Given the description of an element on the screen output the (x, y) to click on. 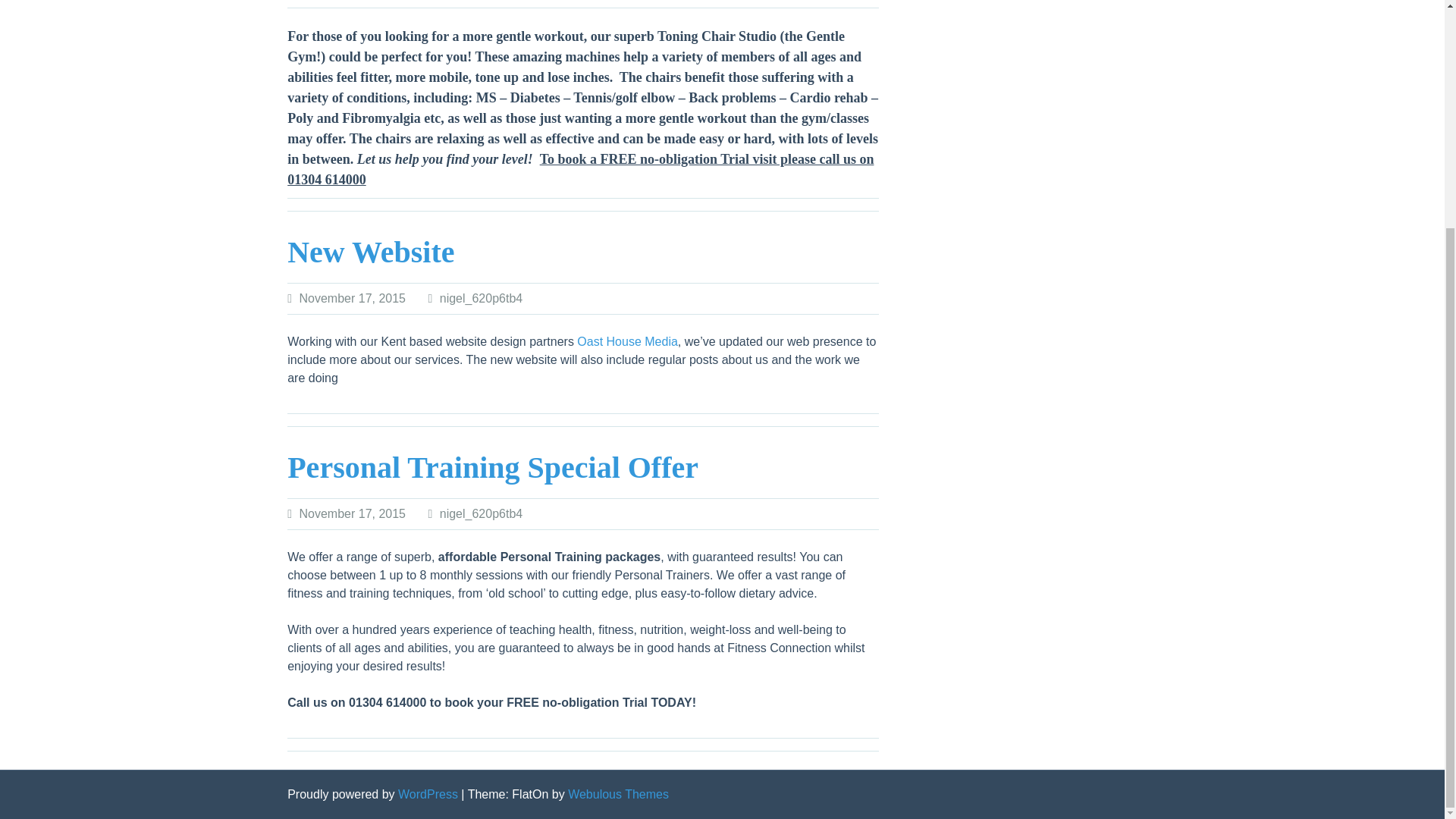
November 17, 2015 (352, 513)
Oast House Media (627, 341)
November 17, 2015 (352, 297)
New Website (370, 252)
Personal Training Special Offer (492, 467)
